Given the description of an element on the screen output the (x, y) to click on. 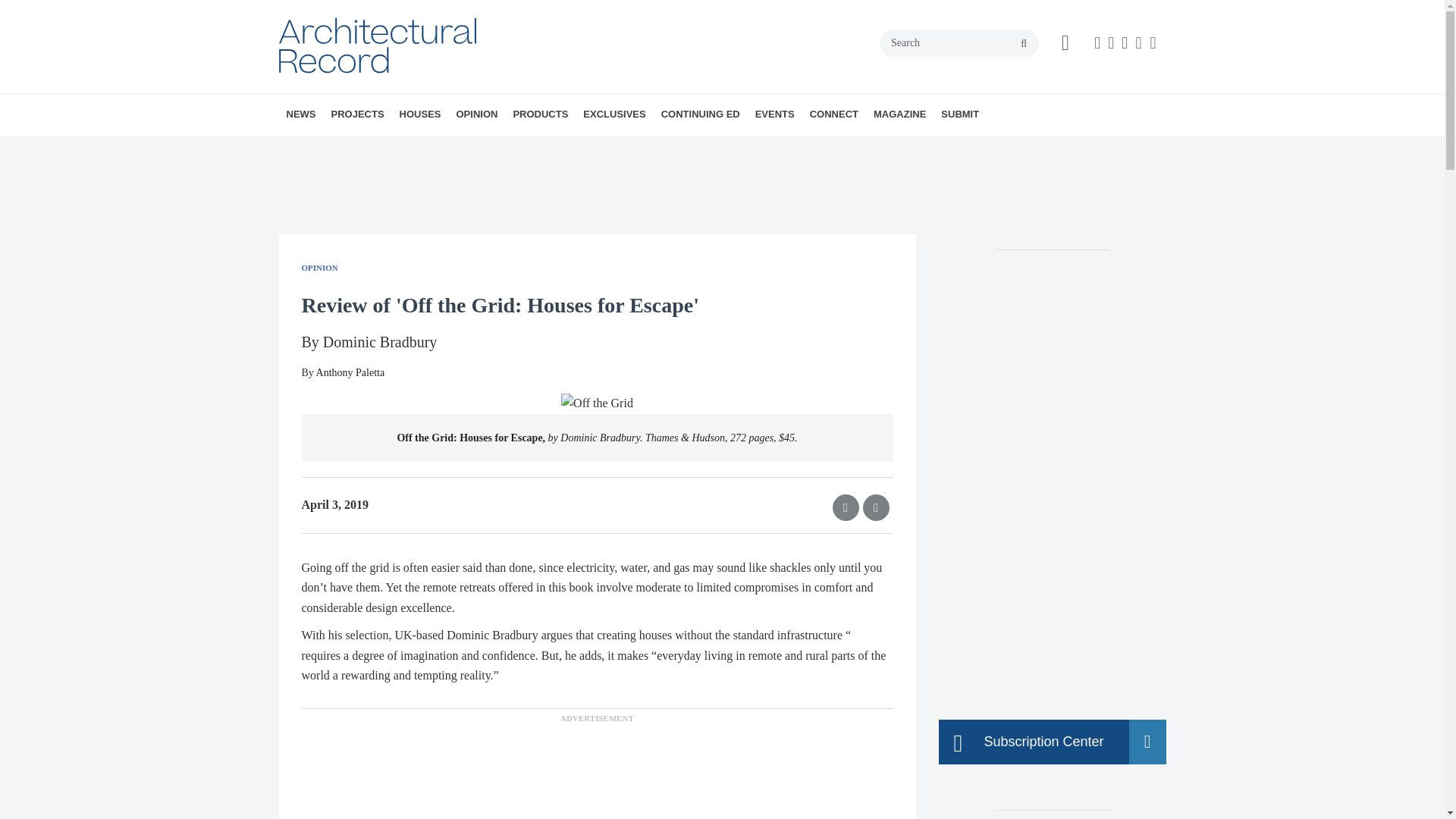
LIGHTING (449, 147)
LATEST NEWS (373, 147)
PROJECTS (357, 114)
INTERIORS (445, 147)
PODCASTS (397, 147)
NEWS (301, 114)
search (1023, 43)
RECORD HOUSES (485, 147)
Search (959, 42)
FEATURED HOUSES (499, 147)
